Given the description of an element on the screen output the (x, y) to click on. 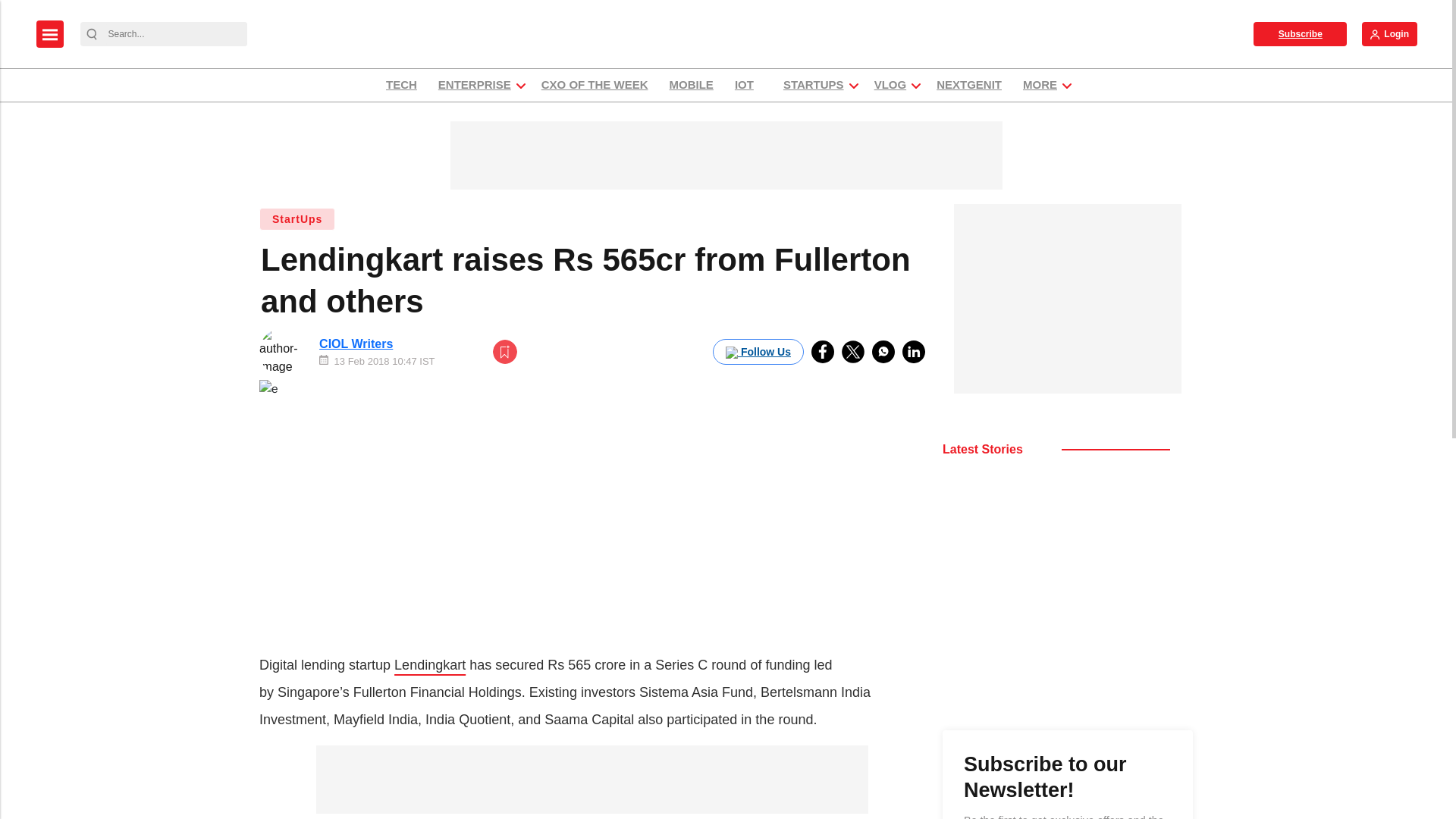
STARTUPS (812, 84)
ENTERPRISE (474, 84)
IOT (748, 84)
NEXTGENIT (969, 84)
MORE (1039, 84)
CXO OF THE WEEK (594, 84)
Login (1388, 33)
MOBILE (691, 84)
VLOG (890, 84)
TECH (401, 84)
